Given the description of an element on the screen output the (x, y) to click on. 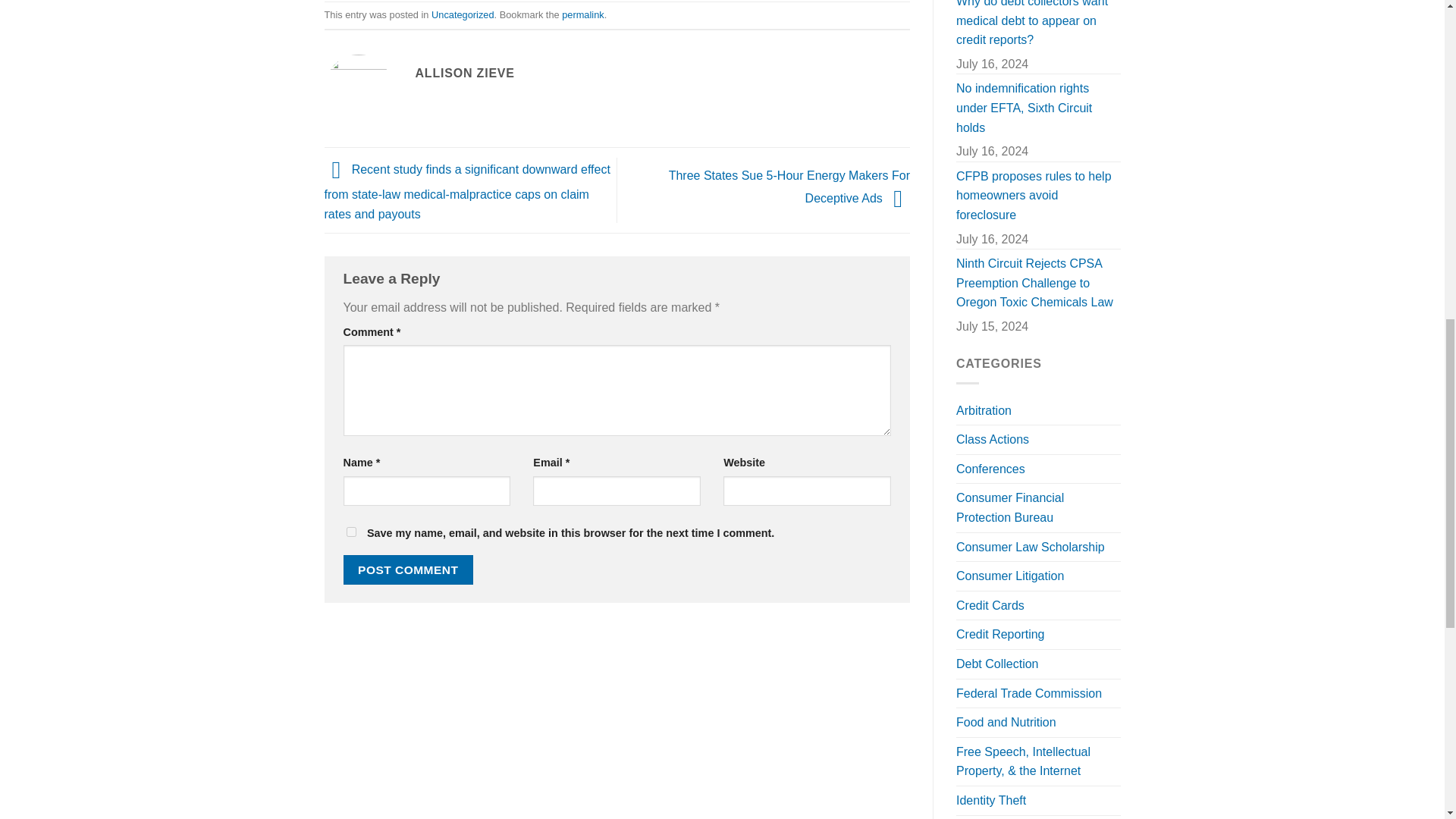
Three States Sue 5-Hour Energy Makers For Deceptive Ads (789, 186)
Uncategorized (462, 14)
Post Comment (407, 569)
Post Comment (407, 569)
permalink (583, 14)
yes (350, 532)
